Given the description of an element on the screen output the (x, y) to click on. 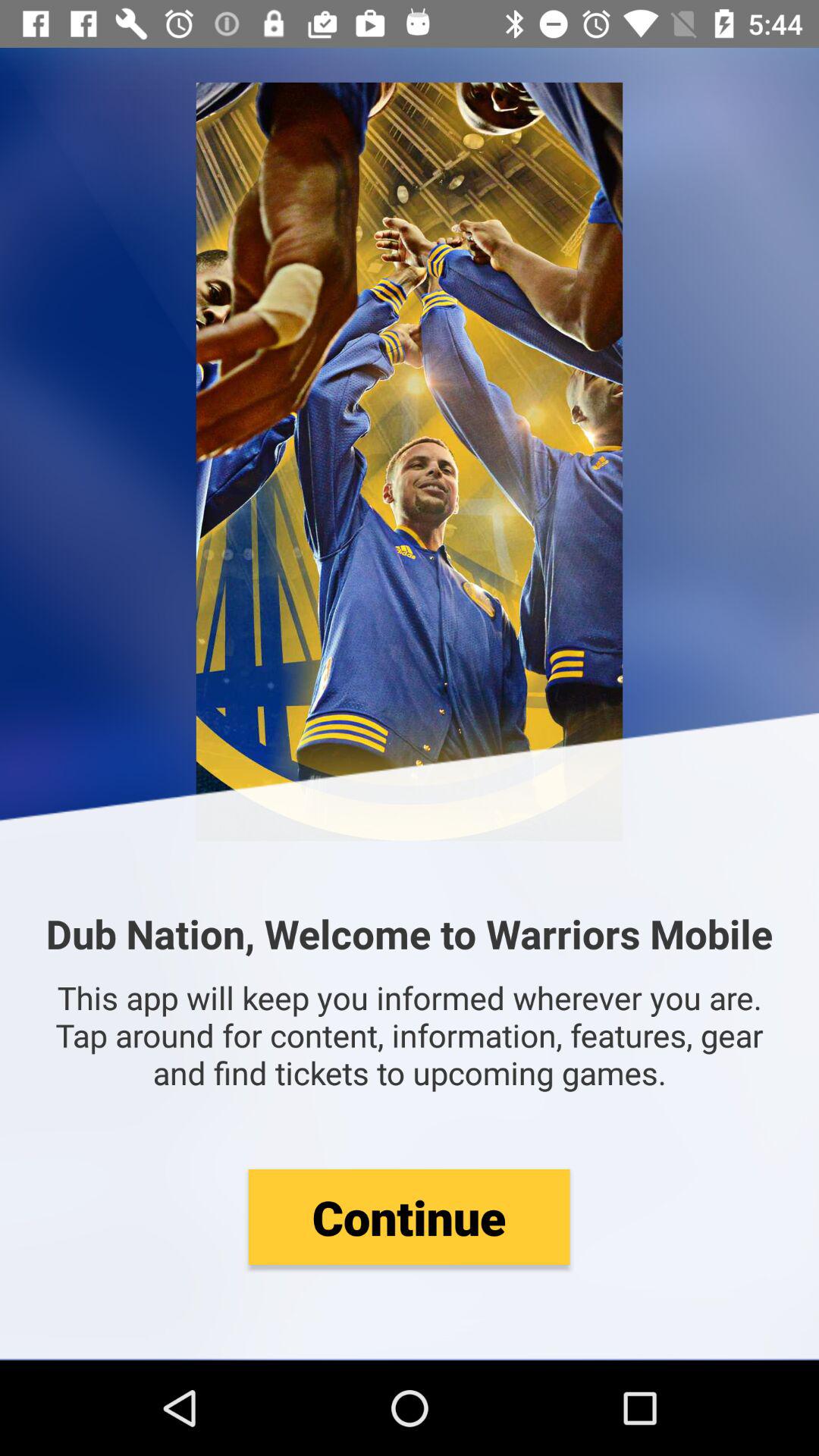
open the item below this app will icon (408, 1216)
